Given the description of an element on the screen output the (x, y) to click on. 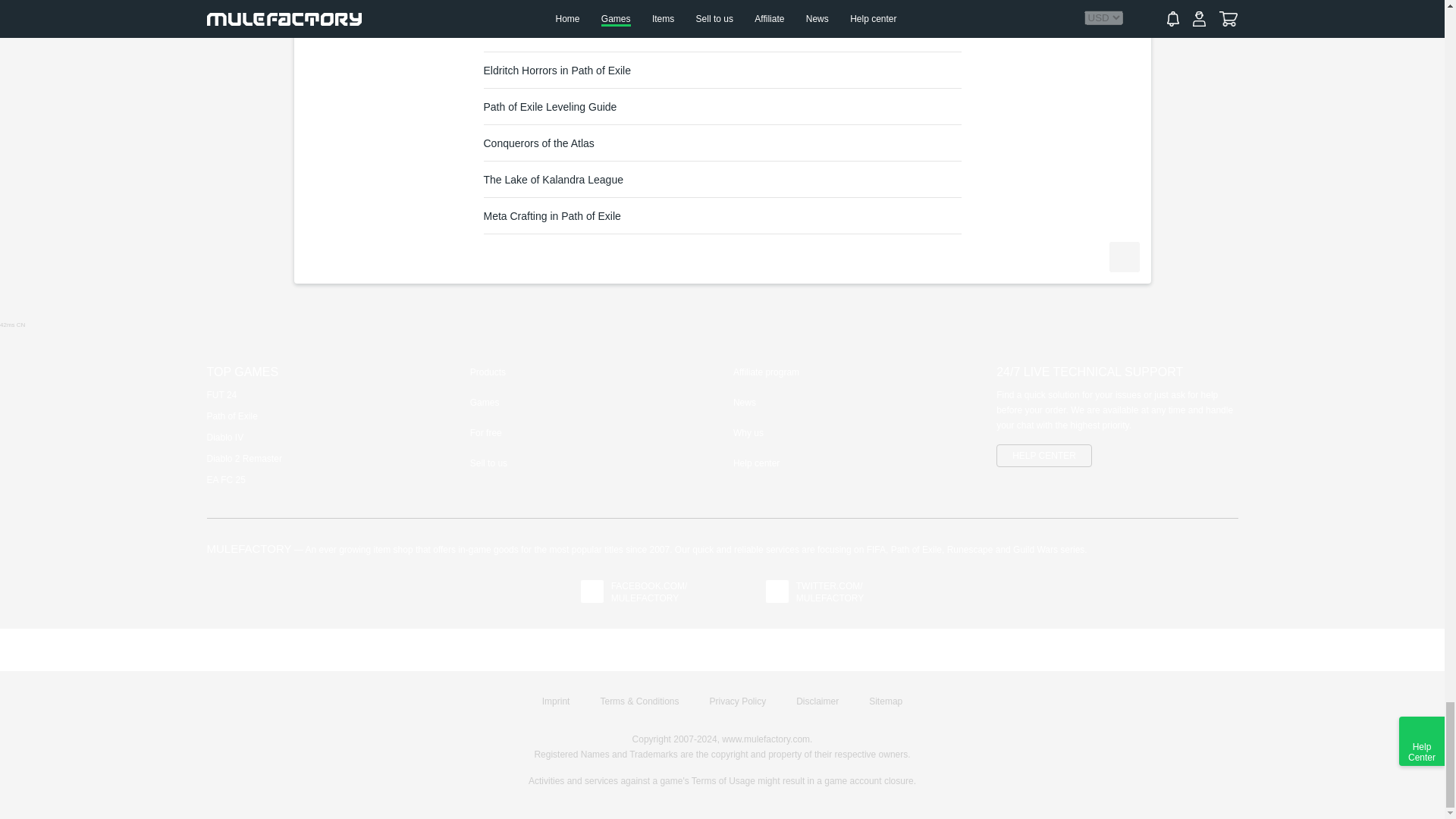
Add to cart (1123, 256)
Add this item to your cart (1123, 256)
